Given the description of an element on the screen output the (x, y) to click on. 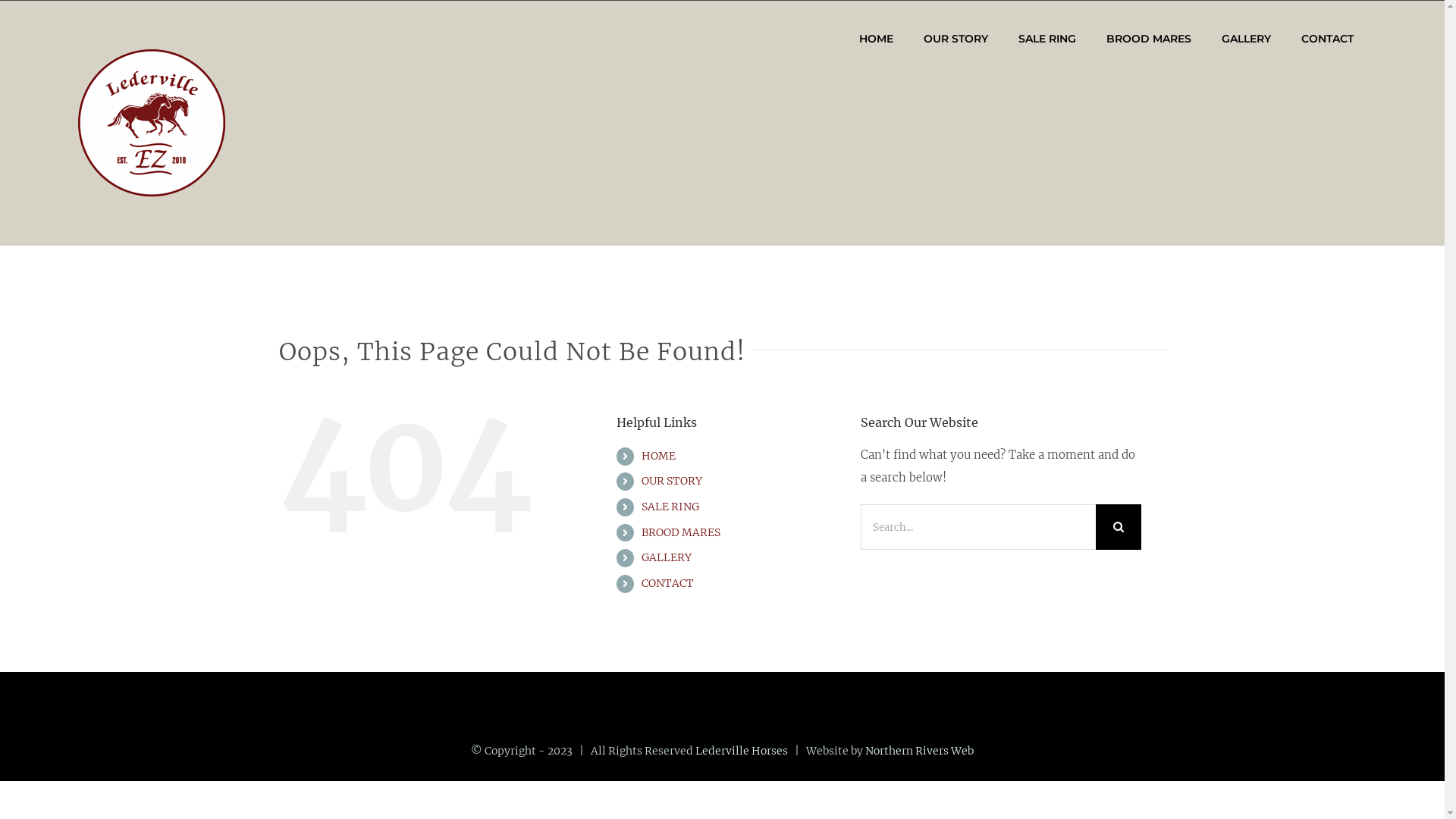
CONTACT Element type: text (667, 582)
Lederville Horses Element type: text (741, 750)
HOME Element type: text (658, 455)
SALE RING Element type: text (1047, 38)
BROOD MARES Element type: text (680, 532)
GALLERY Element type: text (1245, 38)
OUR STORY Element type: text (955, 38)
SALE RING Element type: text (670, 506)
HOME Element type: text (876, 38)
Northern Rivers Web Element type: text (919, 750)
BROOD MARES Element type: text (1148, 38)
GALLERY Element type: text (666, 557)
CONTACT Element type: text (1327, 38)
OUR STORY Element type: text (671, 480)
